Given the description of an element on the screen output the (x, y) to click on. 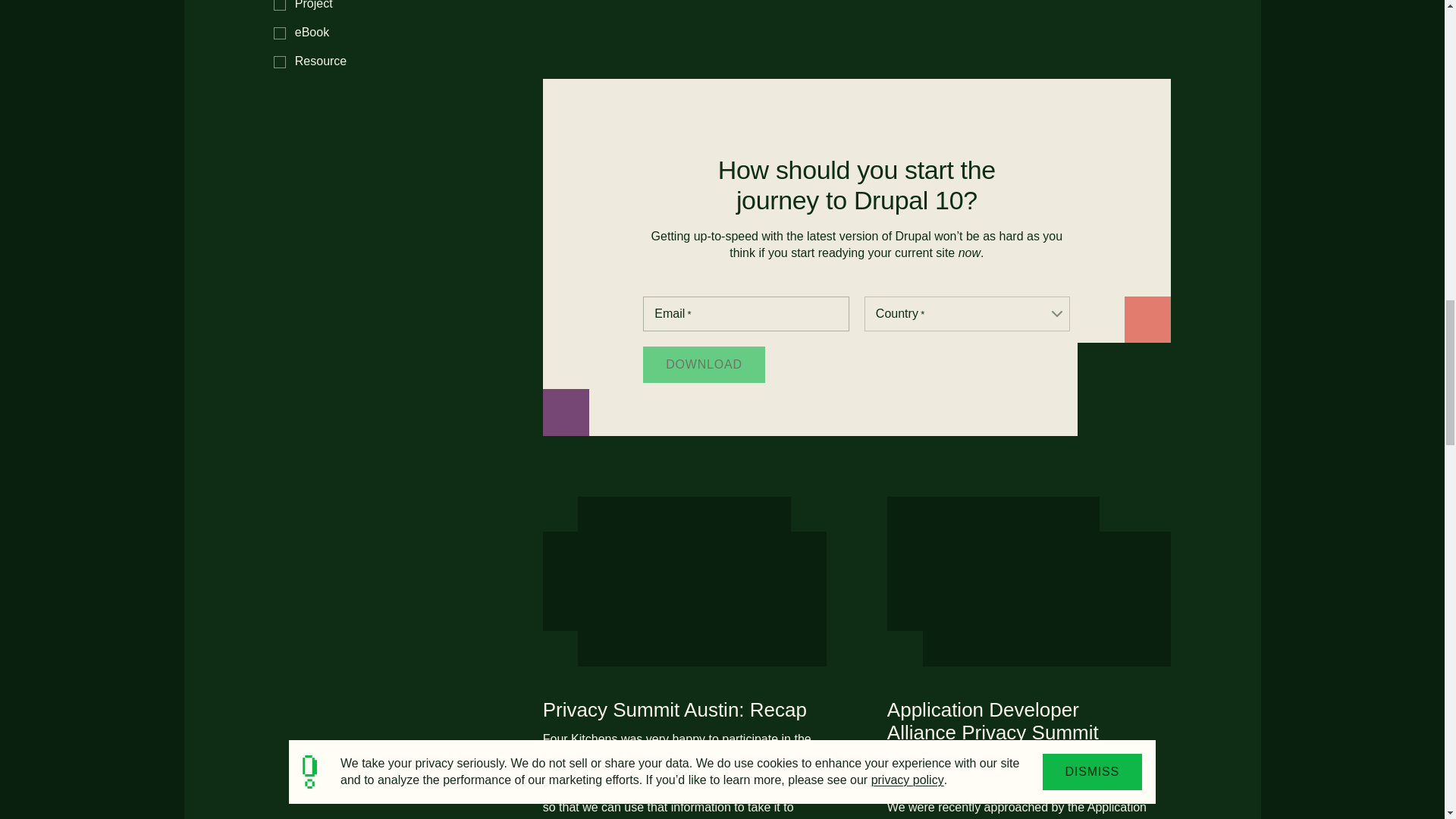
Download (704, 364)
Download (704, 364)
